Given the description of an element on the screen output the (x, y) to click on. 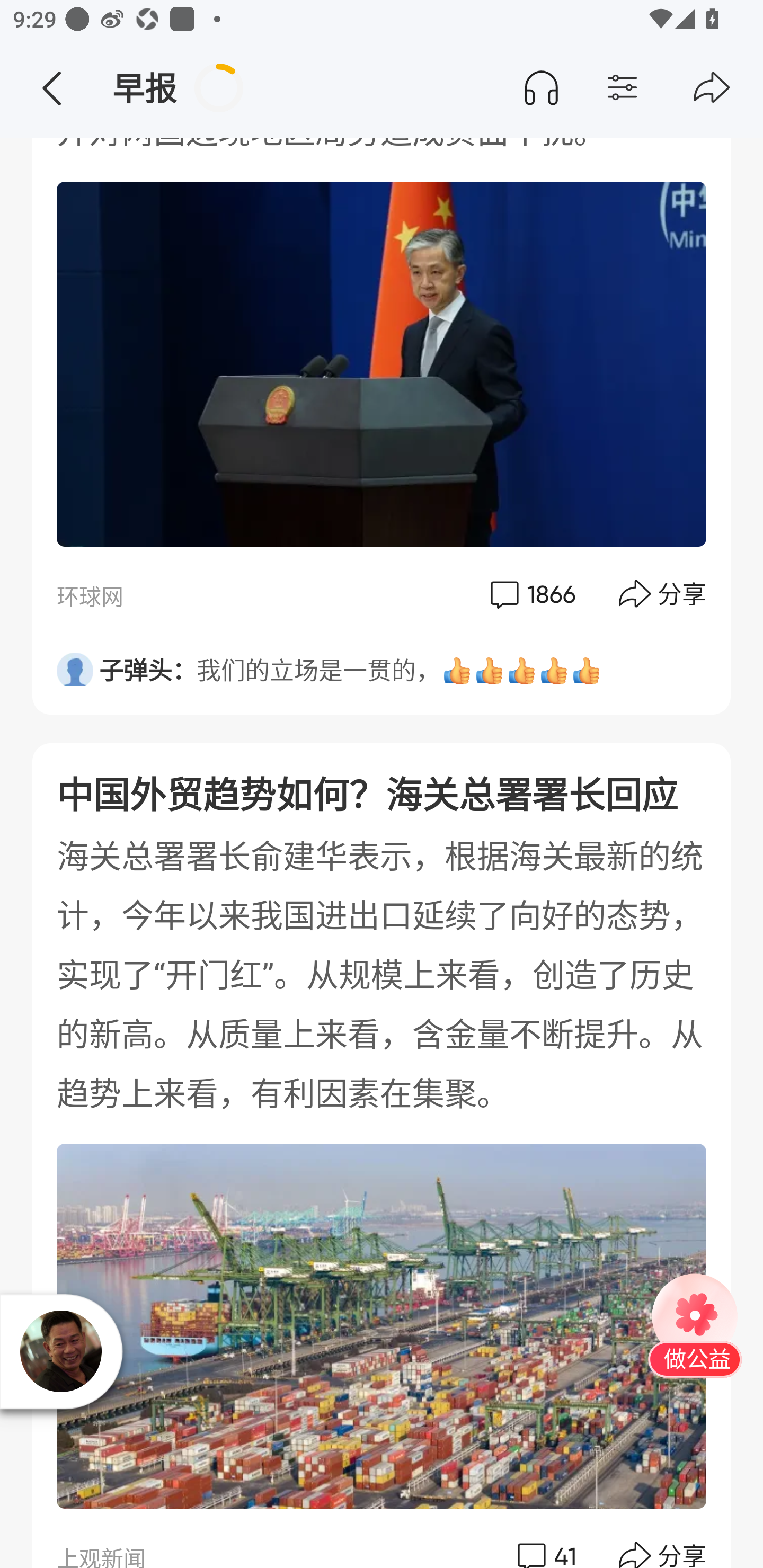
 (50, 87)
 (656, 87)
 (711, 87)
评论  1866 (531, 593)
 分享 (663, 593)
  子弹头：我们的立场是一贯的，[点赞][点赞][点赞][点赞][点赞] (381, 664)
播放器 (60, 1351)
评论  41 (544, 1543)
 分享 (663, 1543)
